Given the description of an element on the screen output the (x, y) to click on. 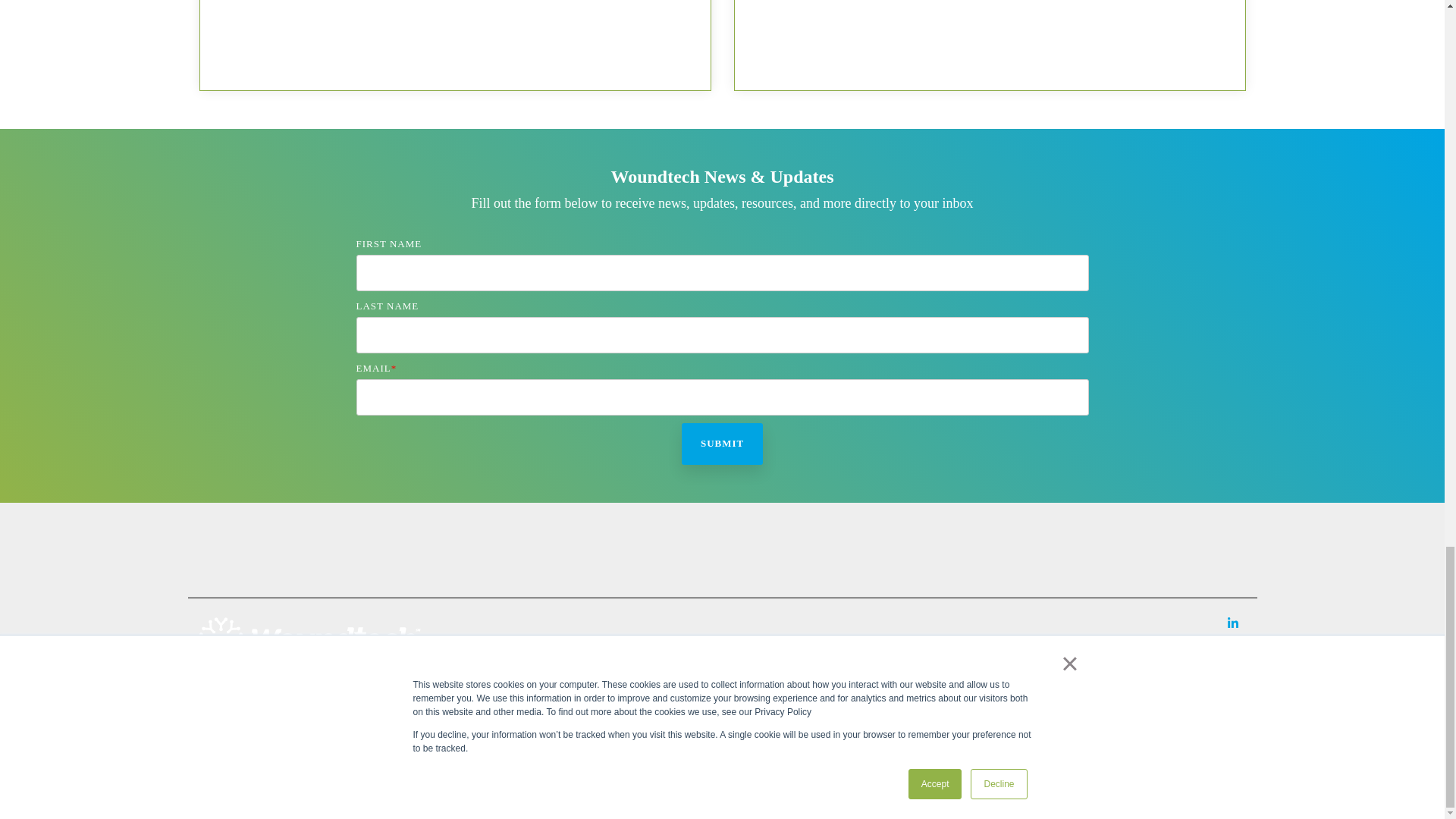
Submit (721, 444)
Submit (721, 444)
